Given the description of an element on the screen output the (x, y) to click on. 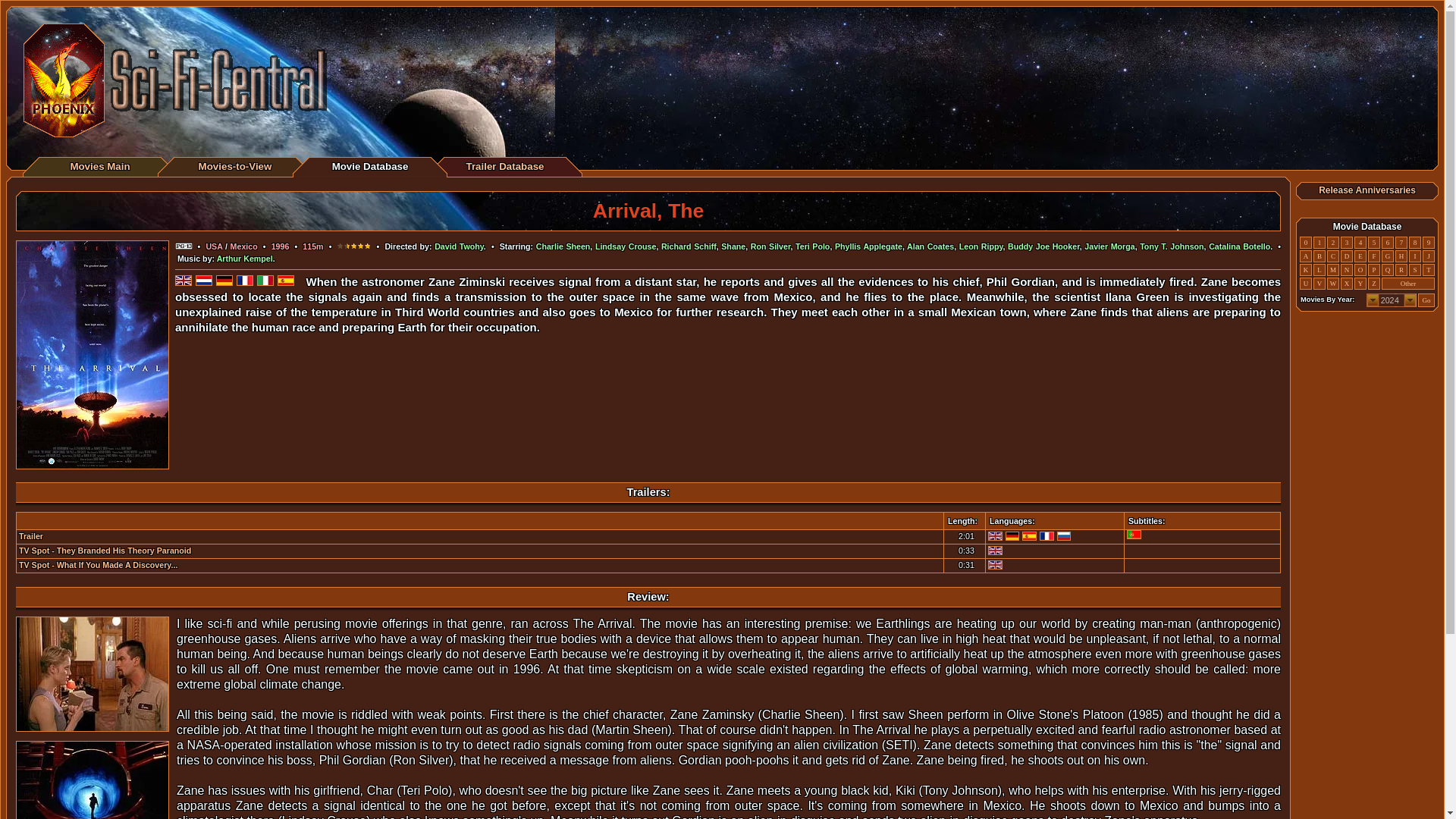
English (995, 550)
Trailer Database (504, 165)
English (995, 535)
Spanish (1029, 535)
Russian (1064, 535)
English (995, 564)
German (1013, 535)
Portuguese (1133, 533)
Release Anniversaries (1367, 190)
TV Spot - They Branded His Theory Paranoid (104, 550)
